Given the description of an element on the screen output the (x, y) to click on. 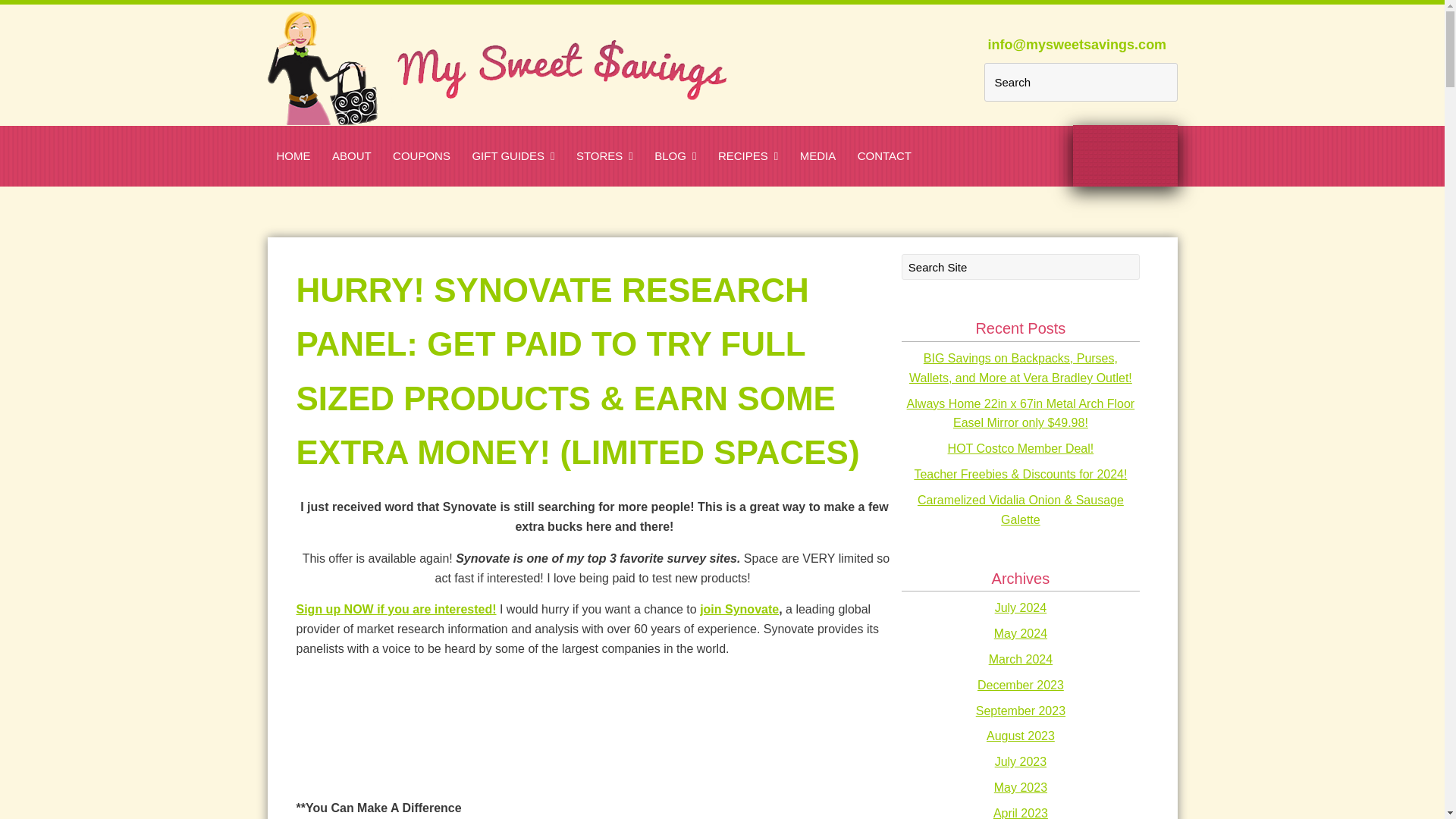
HOME (292, 155)
TRAVEL (613, 187)
ABOUT (351, 155)
STORE (542, 187)
HOLIDAY 2018 (575, 187)
STORES (604, 155)
KIDS (737, 187)
COUPONS (422, 155)
RECIPES (748, 155)
PUBLIX (666, 187)
APPETIZERS (686, 187)
HOLIDAY 2017 (451, 187)
ENTREES (810, 187)
BLOG (674, 155)
GIFT GUIDES (513, 155)
